Given the description of an element on the screen output the (x, y) to click on. 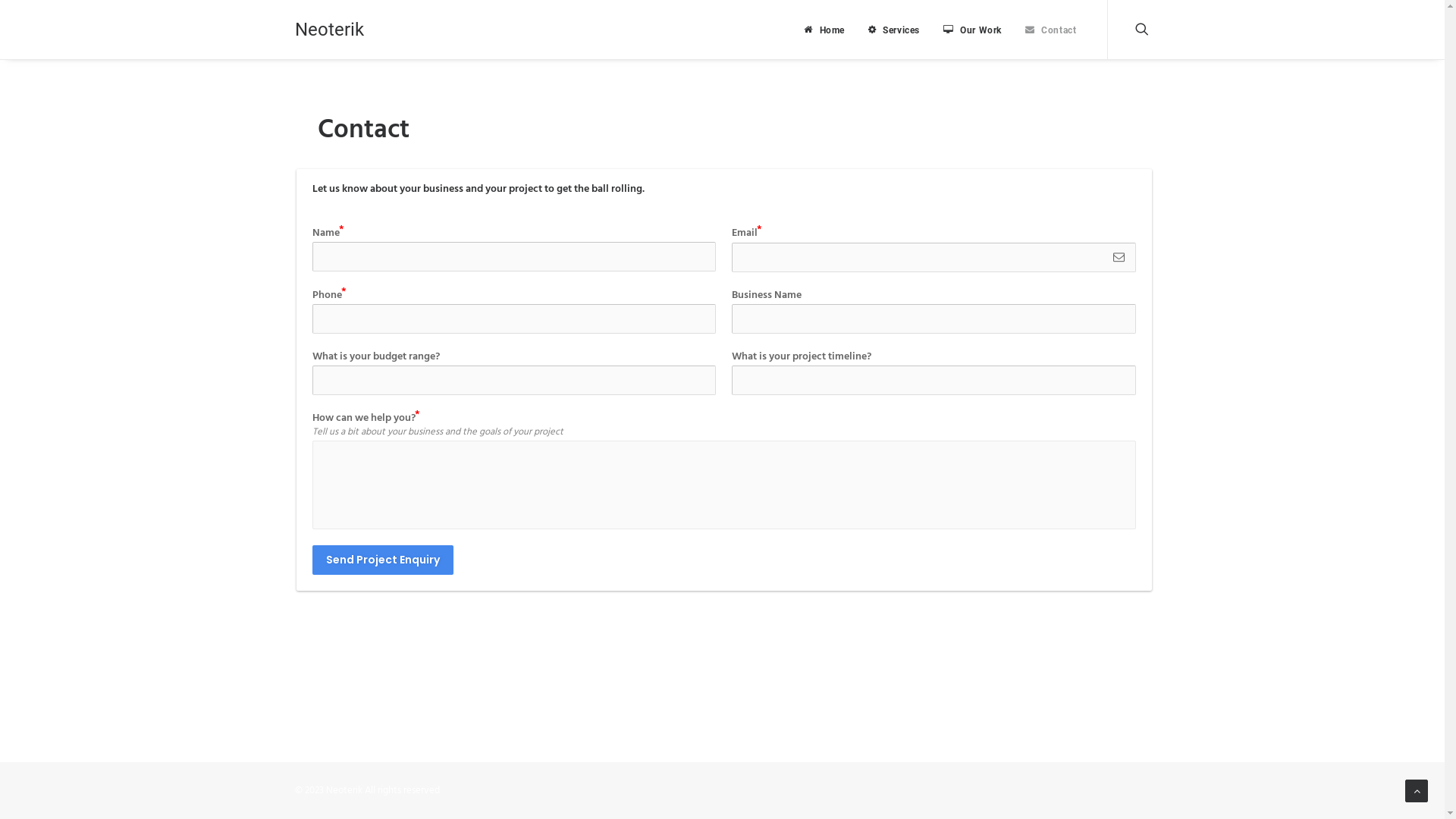
 Services Element type: text (893, 29)
 Contact Element type: text (1045, 29)
 Our Work Element type: text (972, 29)
Send Project Enquiry Element type: text (382, 559)
 Home Element type: text (824, 29)
Neoterik Element type: text (328, 29)
